Given the description of an element on the screen output the (x, y) to click on. 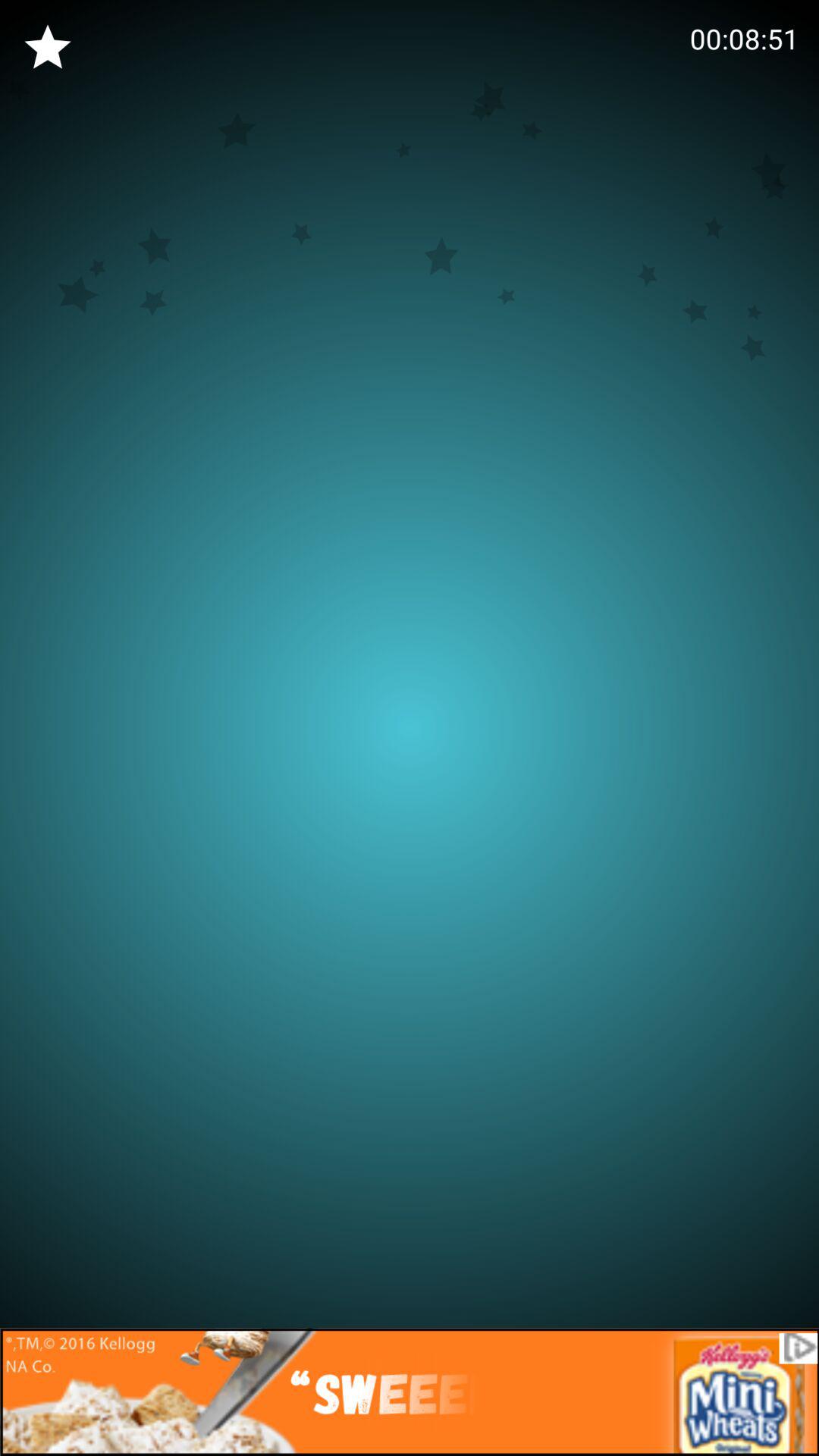
rivwew (47, 47)
